Given the description of an element on the screen output the (x, y) to click on. 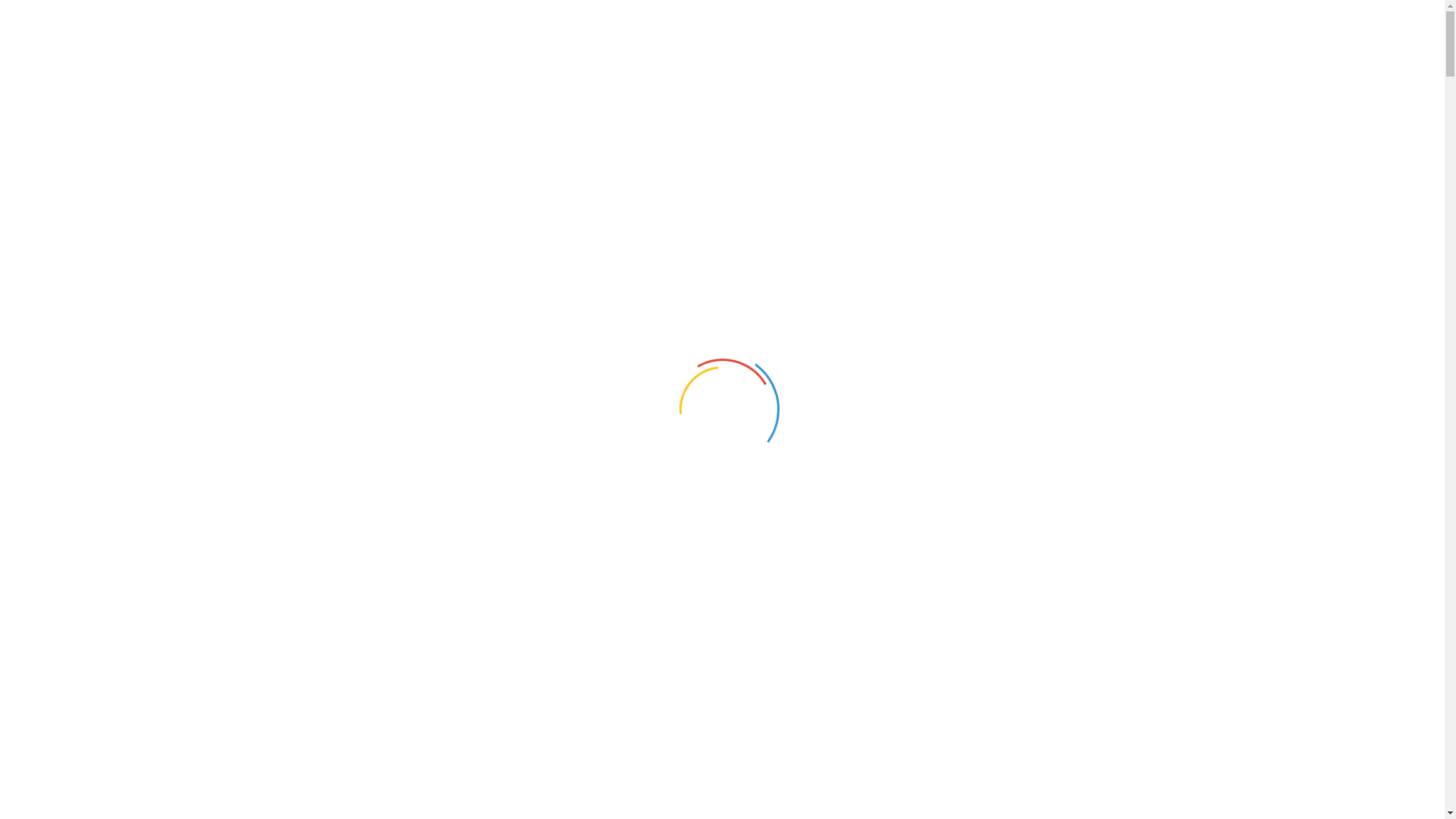
info@snowlion.by Element type: text (1108, 44)
